Given the description of an element on the screen output the (x, y) to click on. 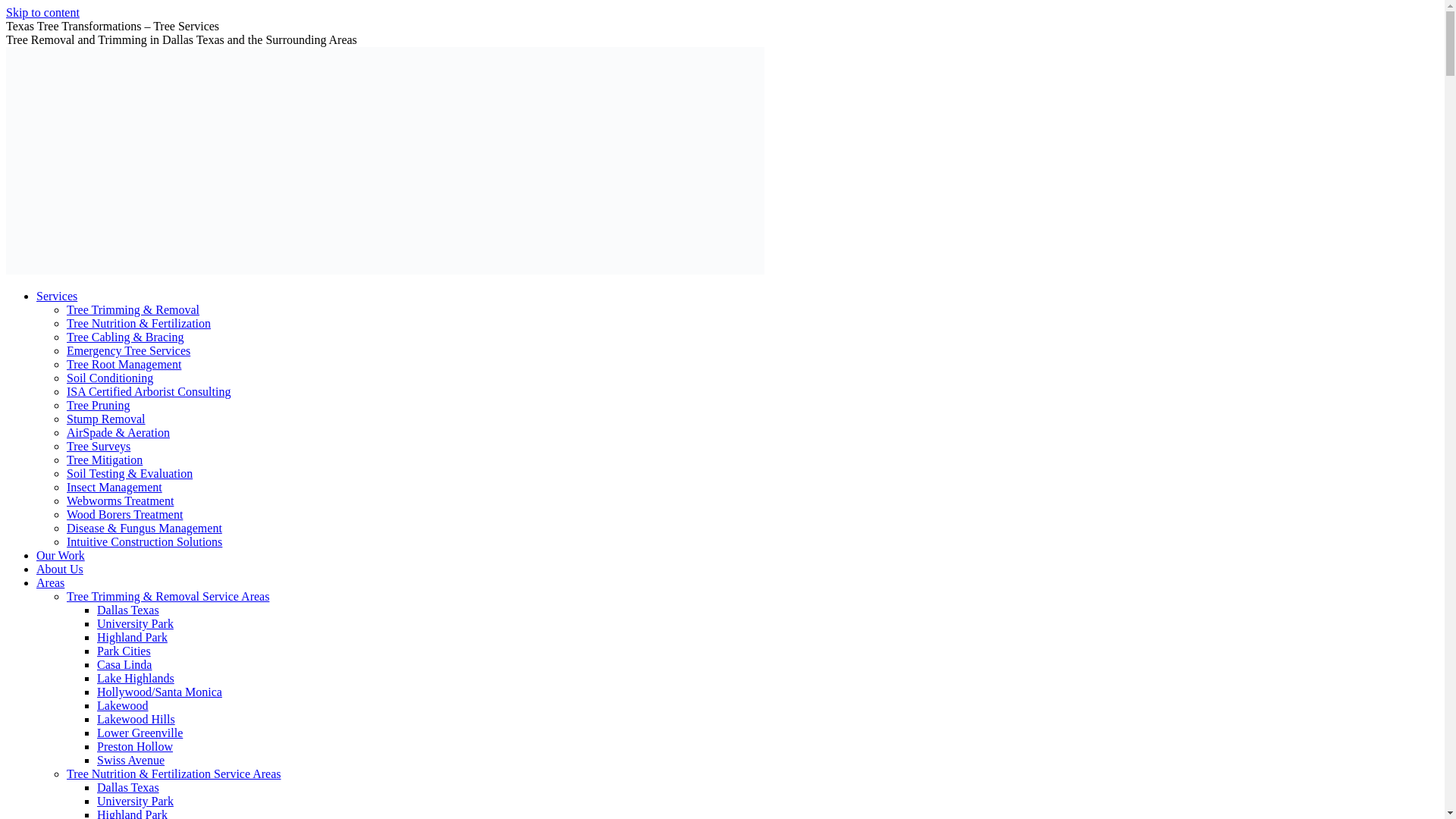
Emergency Tree Services (128, 350)
Park Cities (124, 650)
Insect Management (113, 486)
Skip to content (42, 11)
Lake Highlands (135, 677)
Preston Hollow (135, 746)
ISA Certified Arborist Consulting (148, 391)
Areas (50, 582)
Wood Borers Treatment (124, 513)
Dallas Texas (127, 609)
